Given the description of an element on the screen output the (x, y) to click on. 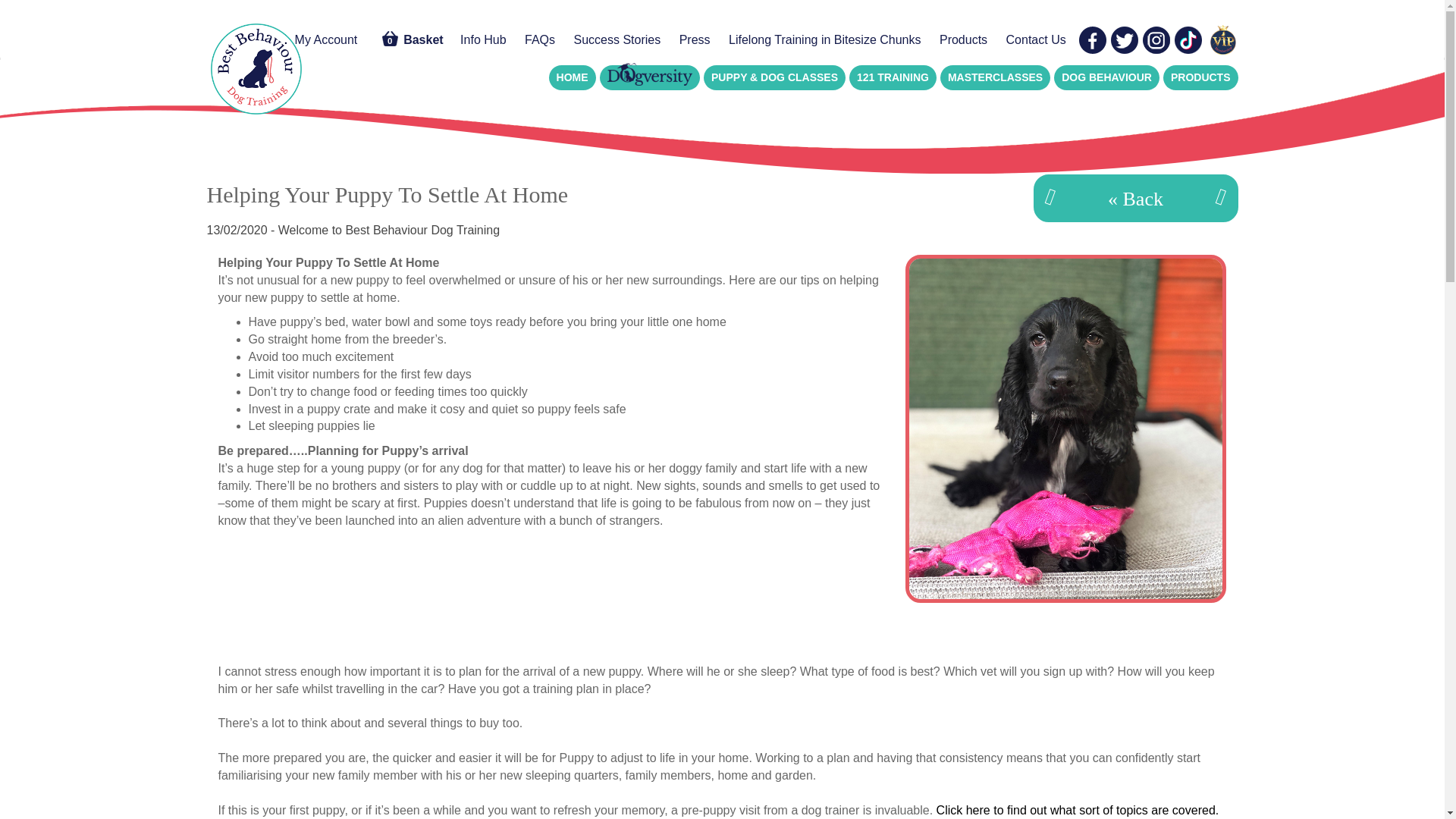
Success Stories (617, 39)
FAQs (539, 39)
Products (962, 39)
MASTERCLASSES (994, 77)
Contact Us (1036, 39)
Info Hub (482, 39)
My Account (325, 39)
Press (694, 39)
Lifelong Training in Bitesize Chunks (824, 39)
DOG BEHAVIOUR (1106, 77)
